Given the description of an element on the screen output the (x, y) to click on. 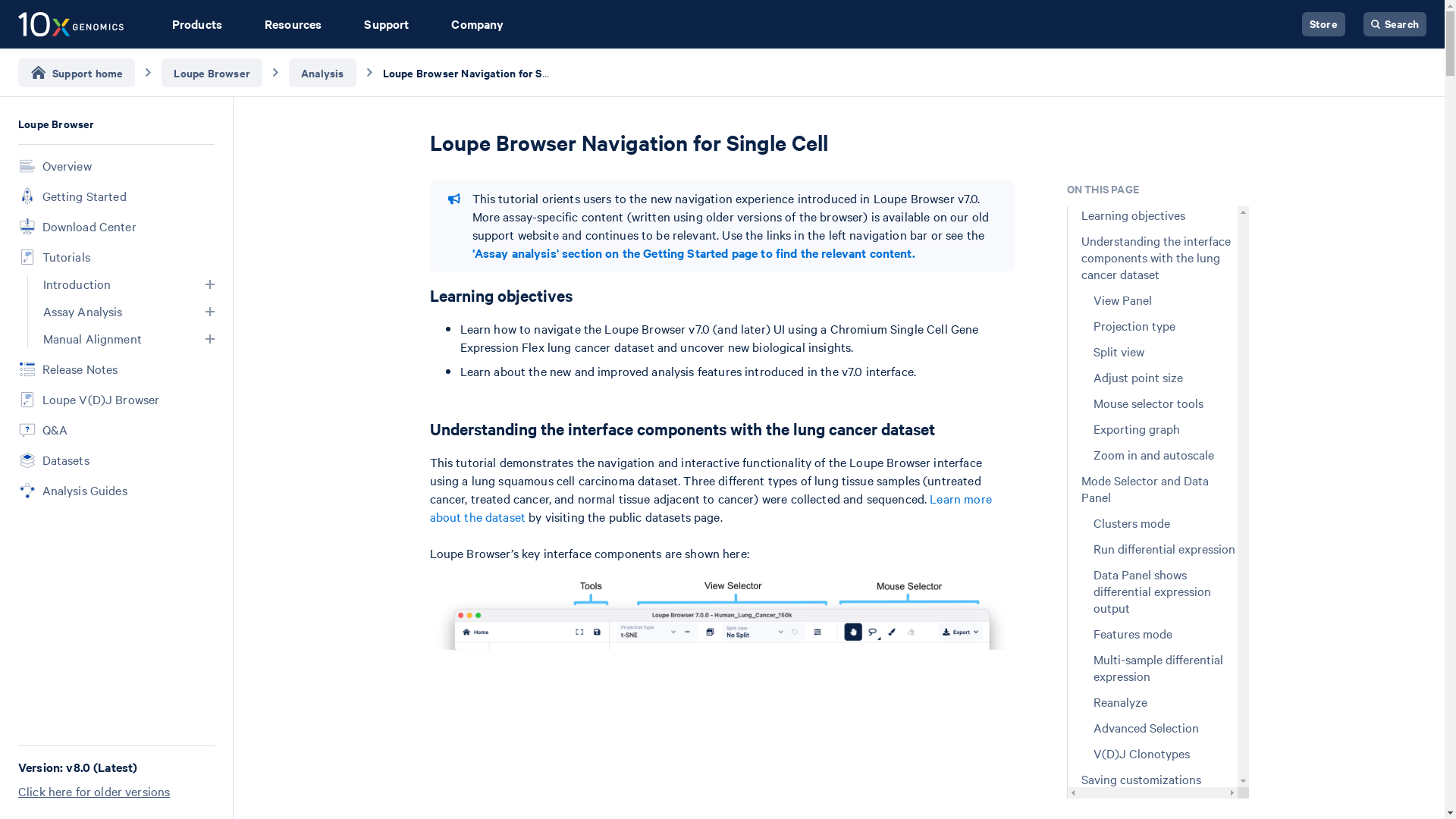
Learning objectives (721, 295)
Click here for older versions (115, 791)
Products (196, 24)
Manual Alignment (128, 339)
Download Center (116, 226)
Support (386, 24)
Getting Started (116, 196)
Analysis Guides (116, 490)
Datasets (116, 460)
